Given the description of an element on the screen output the (x, y) to click on. 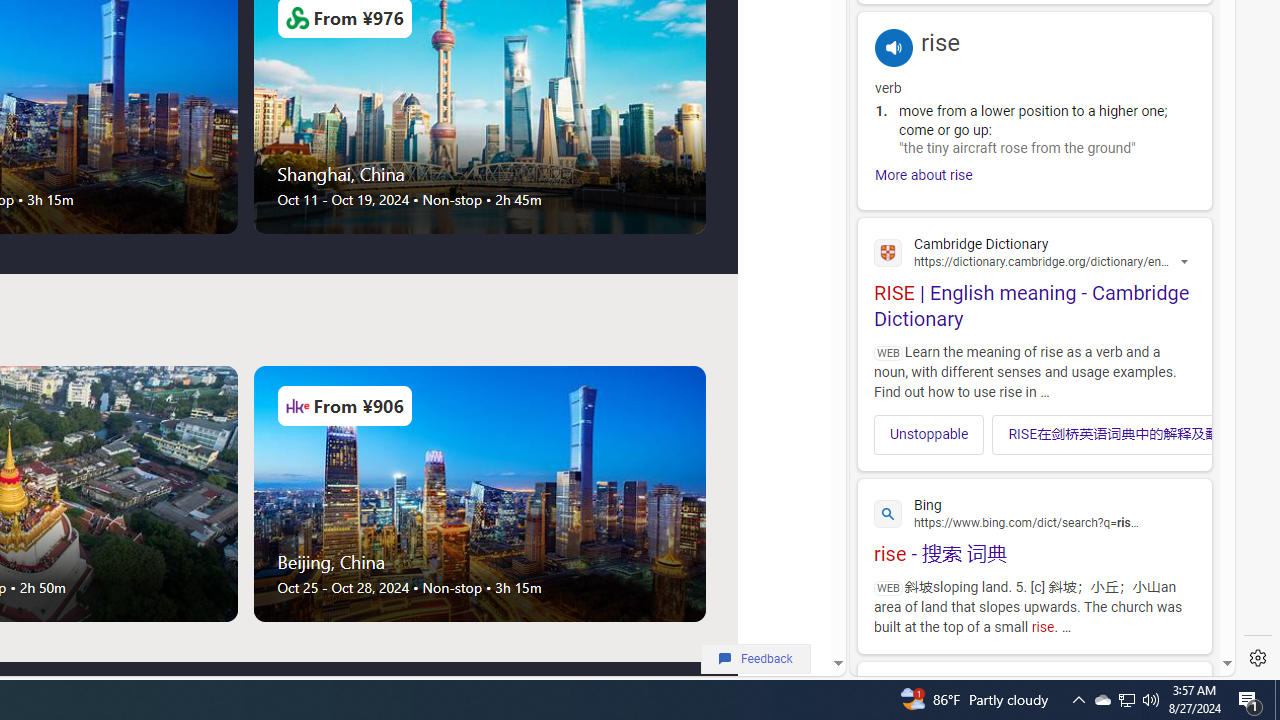
Airlines Logo (297, 405)
Cambridge Dictionary (1034, 251)
Click to scroll right (1183, 434)
Unstoppable (929, 434)
pronounce (893, 47)
Unstoppable (928, 433)
